Given the description of an element on the screen output the (x, y) to click on. 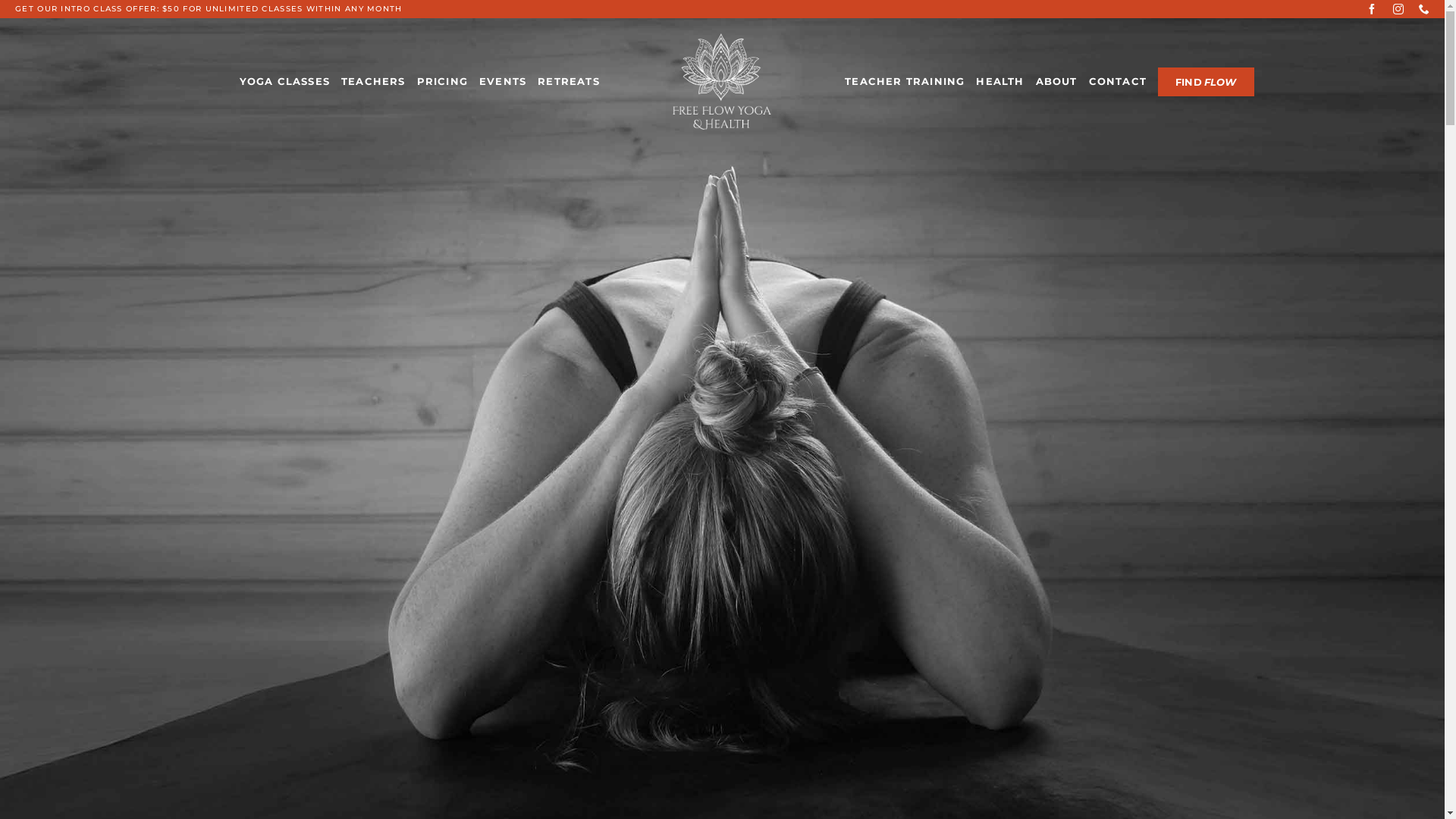
FIND
FLOW Element type: text (1212, 81)
RETREATS Element type: text (573, 81)
TEACHER TRAINING Element type: text (911, 81)
CONTACT Element type: text (1123, 81)
ABOUT Element type: text (1062, 81)
Free_Flow_Yoga_Logo2 Element type: hover (727, 81)
TEACHERS Element type: text (377, 81)
YOGA CLASSES Element type: text (289, 81)
EVENTS Element type: text (506, 81)
PRICING Element type: text (446, 81)
HEALTH Element type: text (1006, 81)
